Given the description of an element on the screen output the (x, y) to click on. 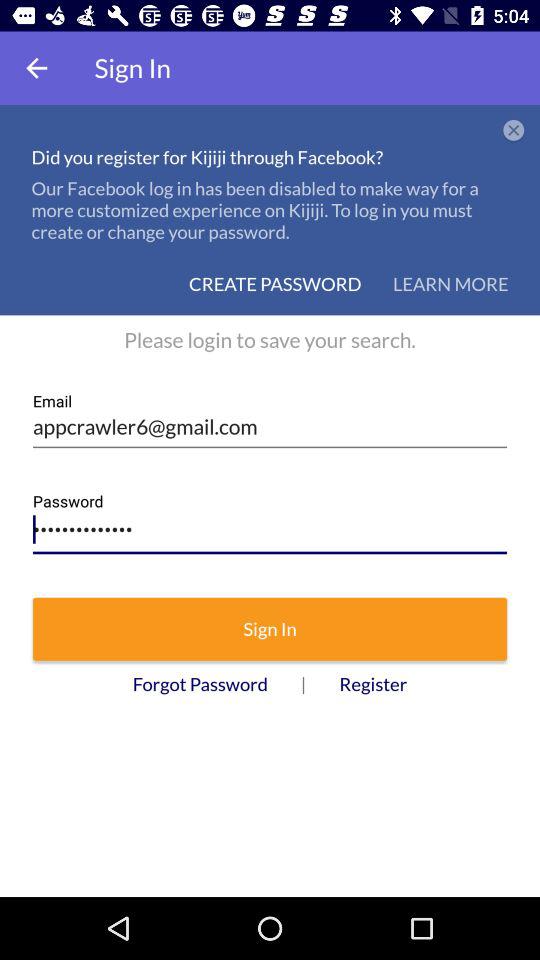
flip to the forgot password (199, 683)
